Given the description of an element on the screen output the (x, y) to click on. 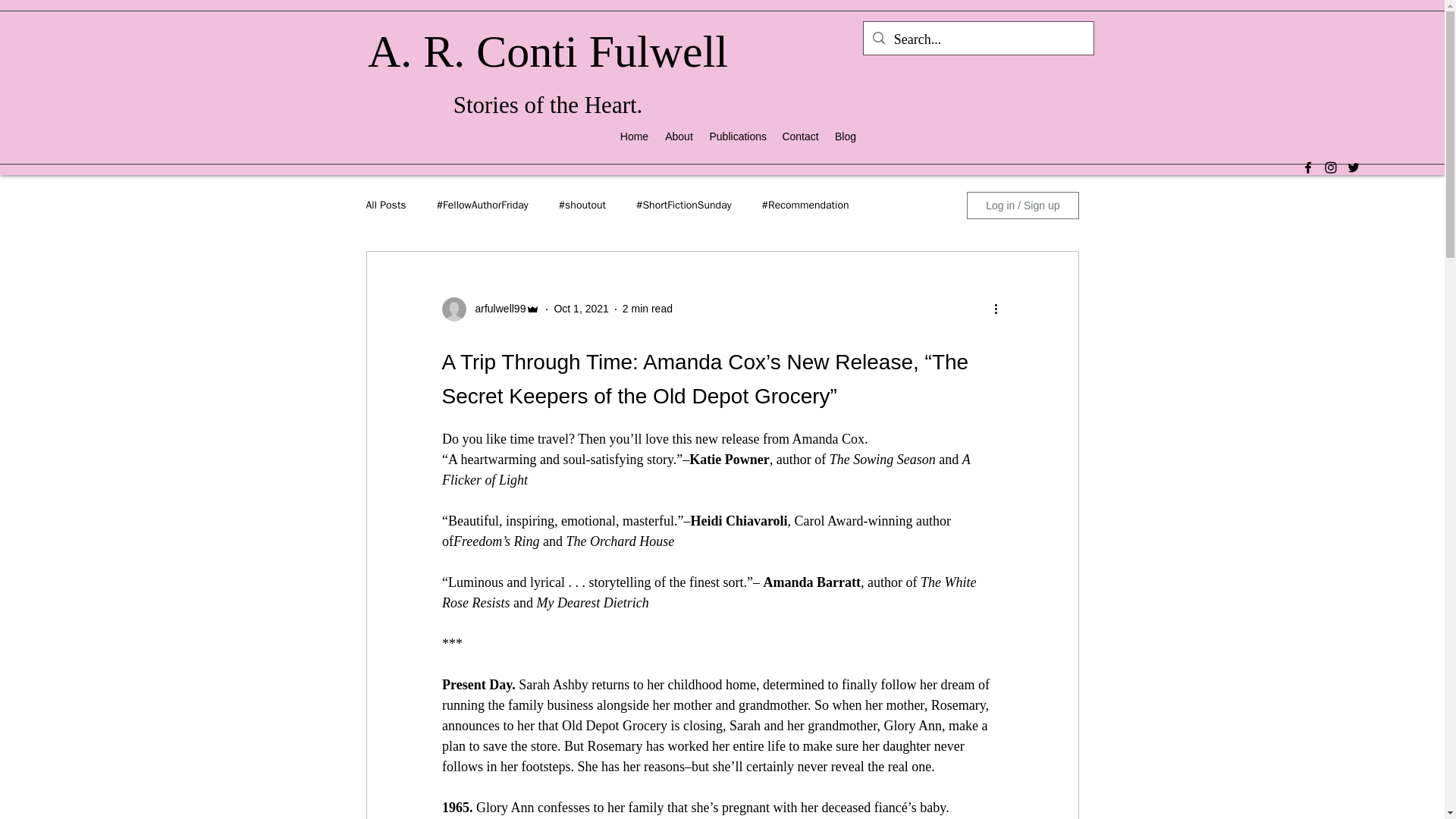
Blog (845, 136)
All Posts (385, 205)
Contact (800, 136)
Home (634, 136)
Oct 1, 2021 (580, 308)
Publications (737, 136)
2 min read (647, 308)
arfulwell99 (495, 308)
About (678, 136)
